Given the description of an element on the screen output the (x, y) to click on. 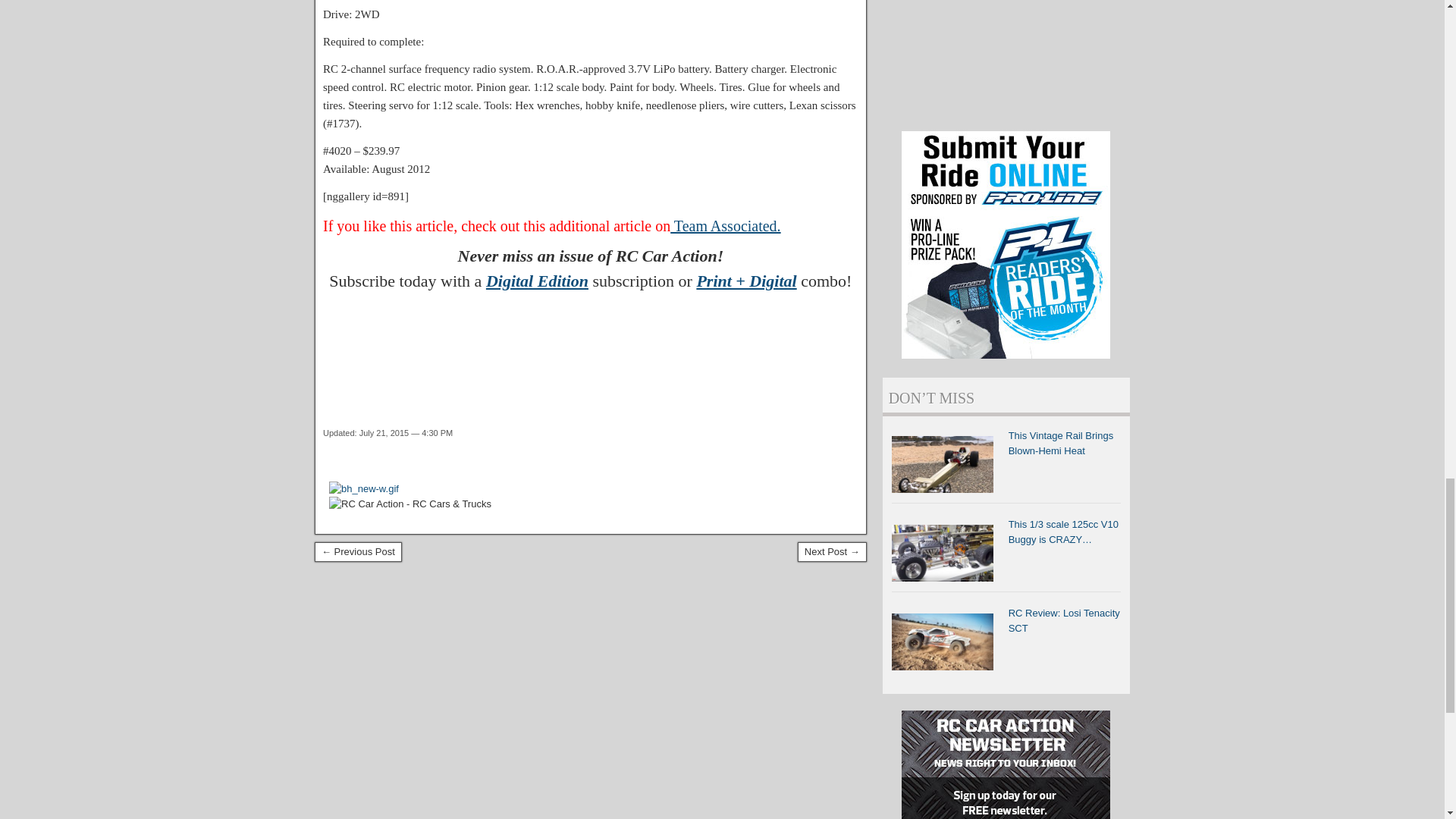
3rd party ad content (594, 346)
